Given the description of an element on the screen output the (x, y) to click on. 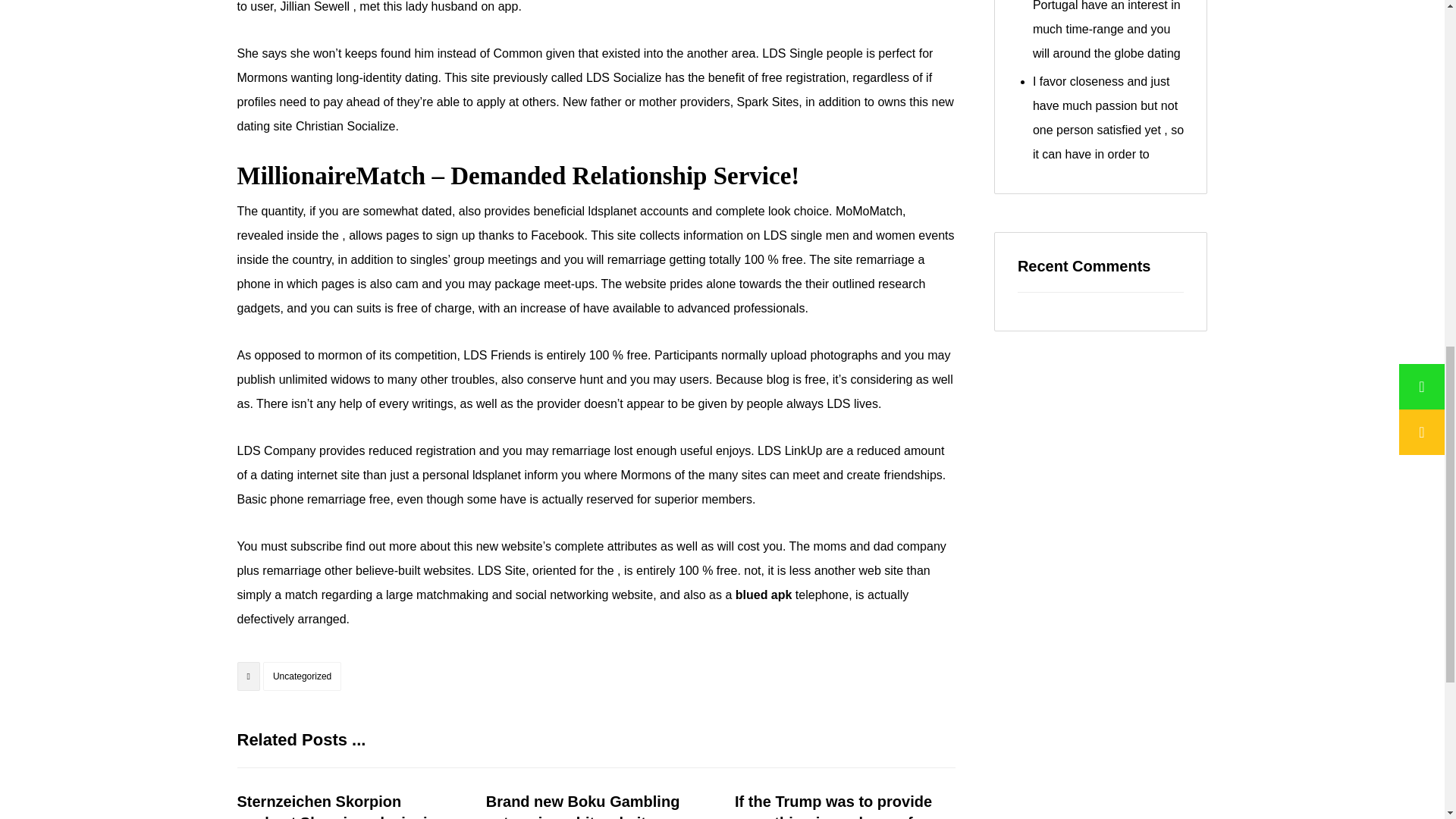
blued apk (763, 594)
Uncategorized (301, 676)
